Given the description of an element on the screen output the (x, y) to click on. 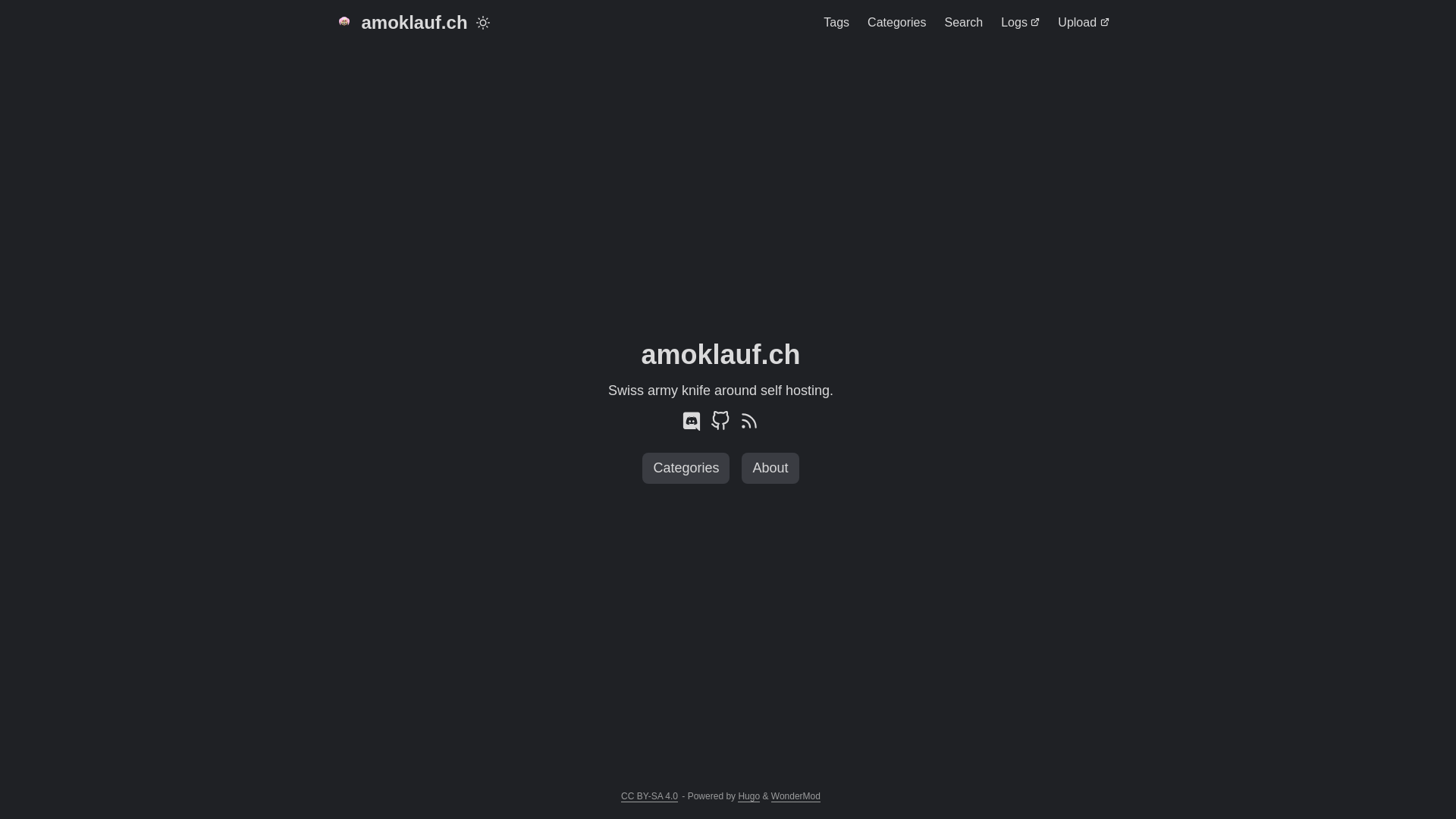
amoklauf.ch Element type: text (399, 22)
Hugo Element type: text (748, 796)
WonderMod Element type: text (795, 796)
CC BY-SA 4.0 Element type: text (649, 796)
Upload  Element type: text (1082, 22)
Categories Element type: text (685, 467)
Search Element type: text (963, 22)
Logs  Element type: text (1020, 22)
Rss Element type: hover (749, 425)
About Element type: text (769, 467)
Tags Element type: text (836, 22)
(Alt + T) Element type: hover (482, 22)
Github Element type: hover (720, 425)
Categories Element type: text (896, 22)
Discord Element type: hover (691, 425)
